Given the description of an element on the screen output the (x, y) to click on. 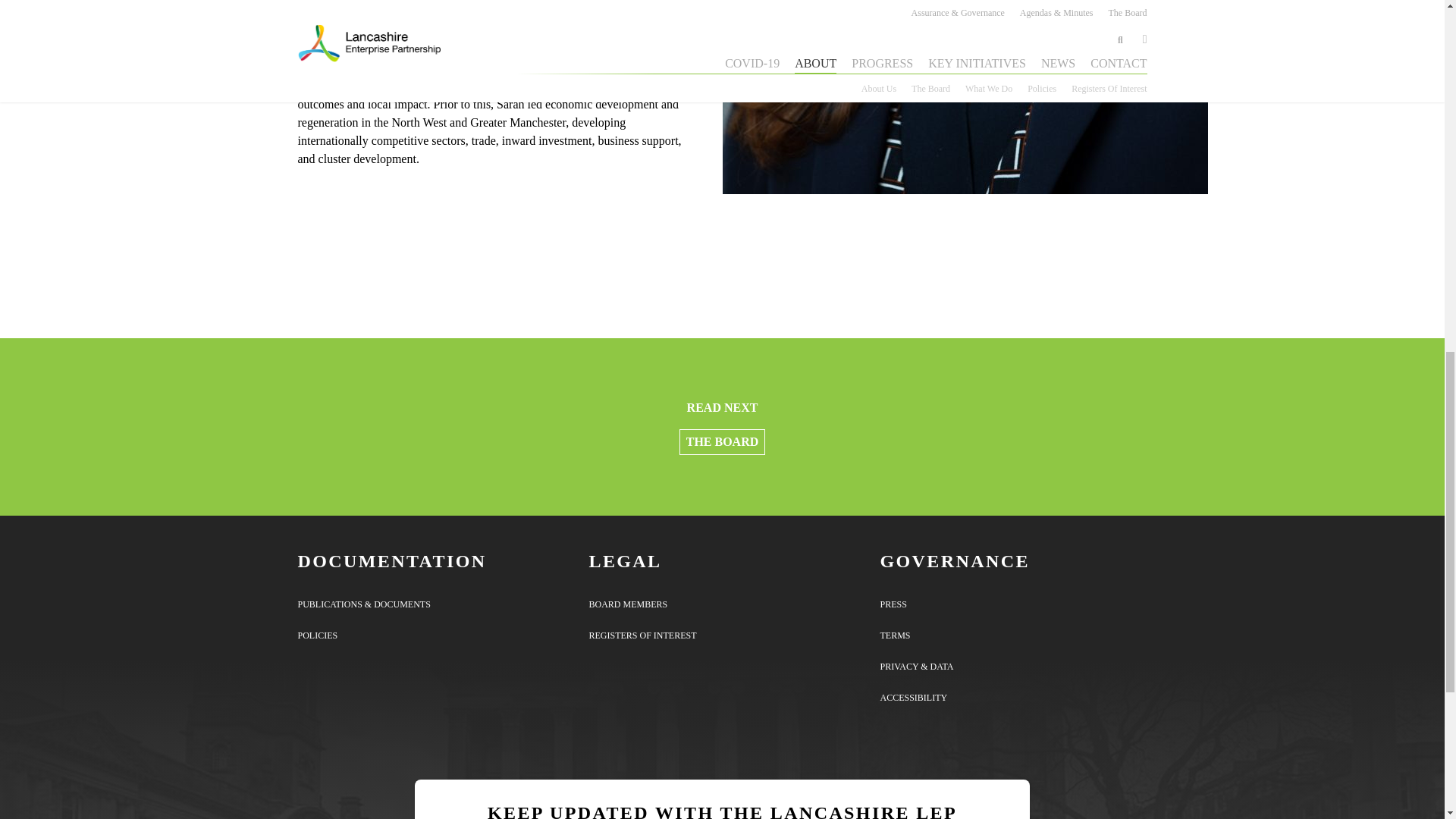
POLICIES (317, 634)
THE BOARD (722, 442)
The Board (722, 442)
BOARD MEMBERS (627, 603)
